Given the description of an element on the screen output the (x, y) to click on. 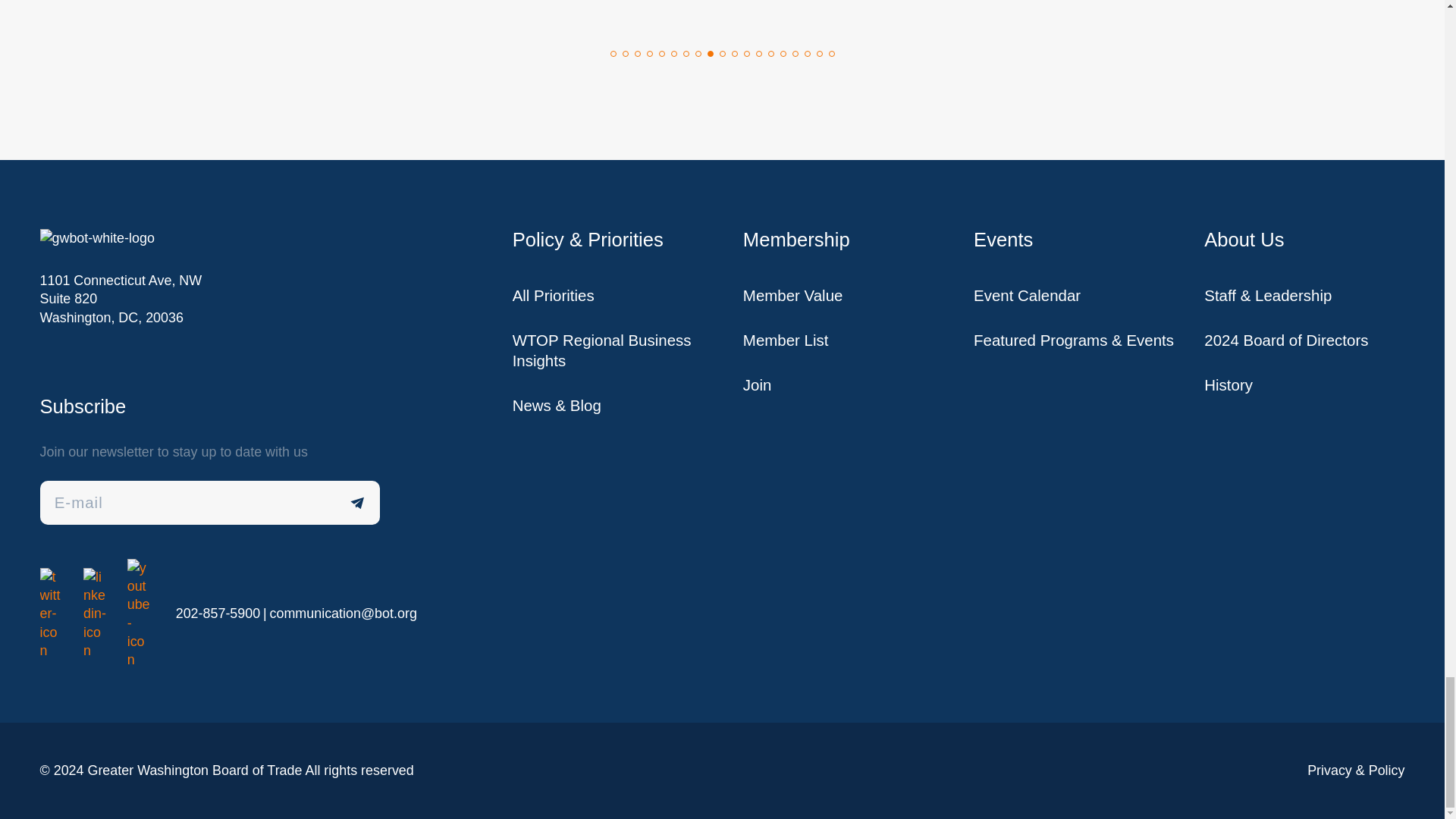
Send (358, 502)
